Given the description of an element on the screen output the (x, y) to click on. 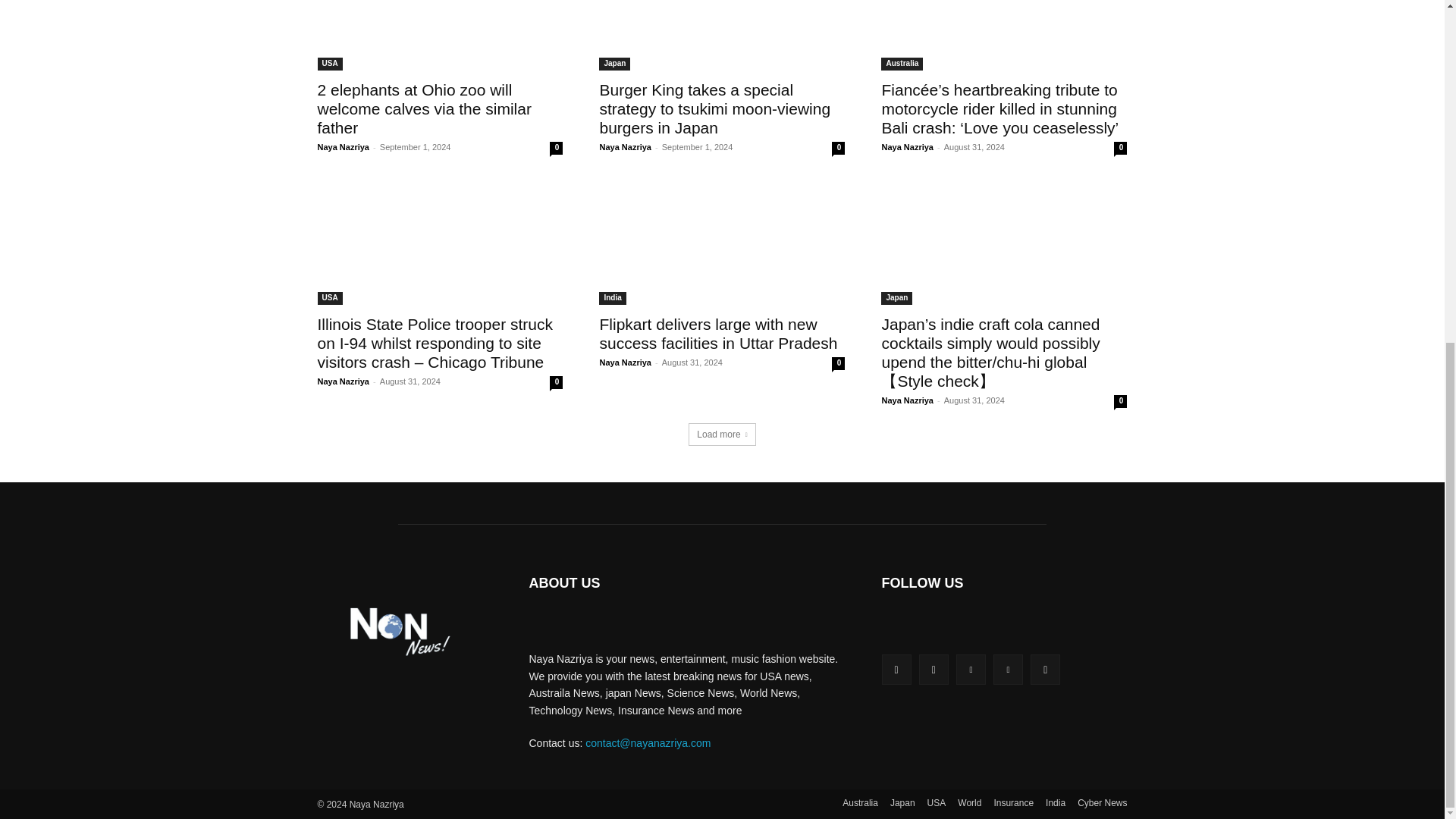
0 (556, 147)
0 (837, 147)
Japan (614, 63)
Naya Nazriya (343, 146)
0 (1119, 147)
USA (329, 63)
